Given the description of an element on the screen output the (x, y) to click on. 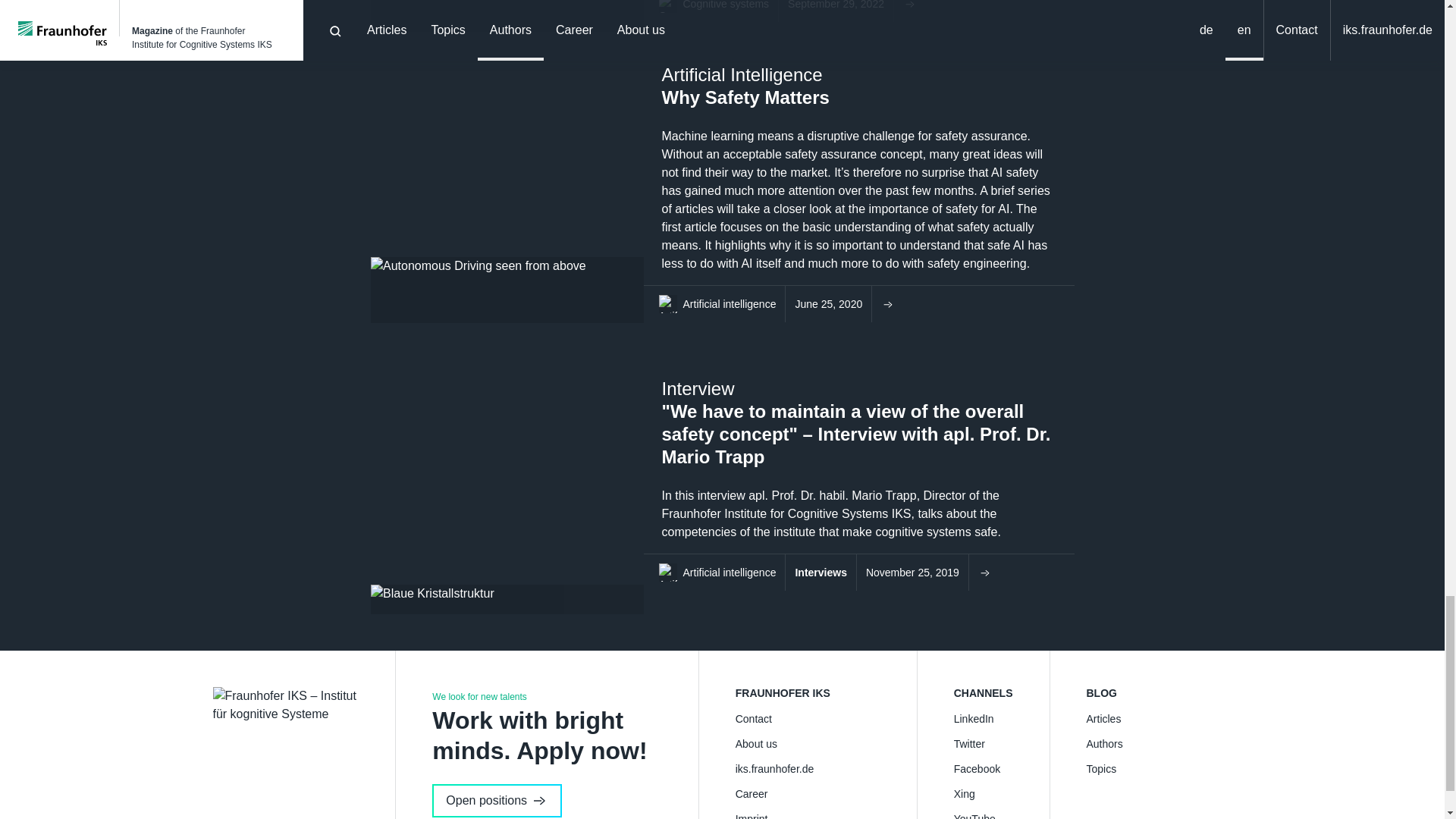
Twitter (983, 743)
YouTube (983, 815)
Facebook (983, 769)
Pfeil nach rechts (908, 4)
Topics (1158, 769)
Open positions (497, 800)
Xing (983, 793)
Contact (807, 719)
Pfeil nach rechts (984, 572)
Pfeil nach rechts (886, 303)
Imprint (807, 815)
About us (807, 743)
LinkedIn (983, 719)
iks.fraunhofer.de (807, 769)
